Given the description of an element on the screen output the (x, y) to click on. 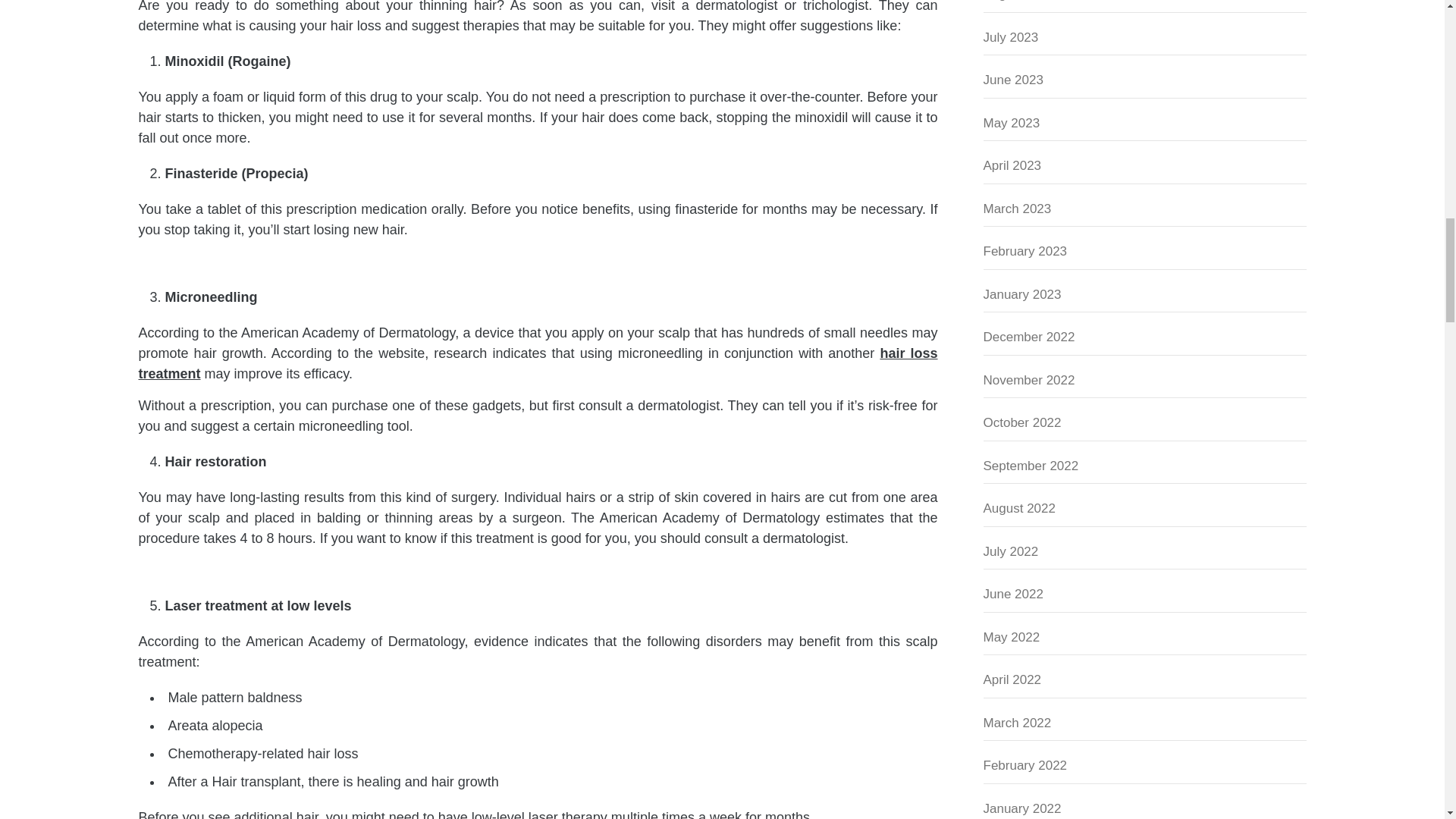
hair loss treatment (537, 363)
